Given the description of an element on the screen output the (x, y) to click on. 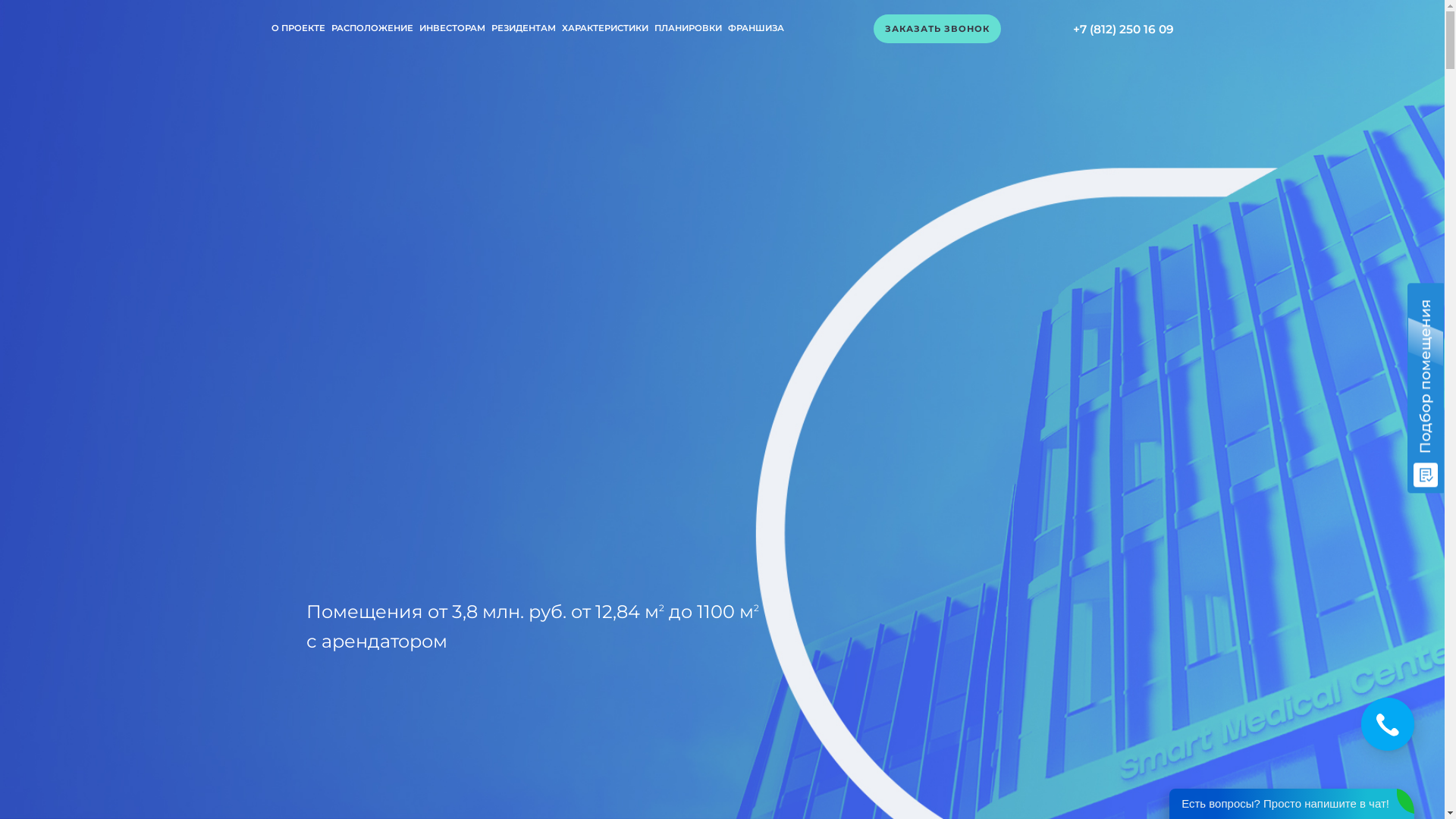
+7 (812) 250 16 09 Element type: text (1122, 29)
